Given the description of an element on the screen output the (x, y) to click on. 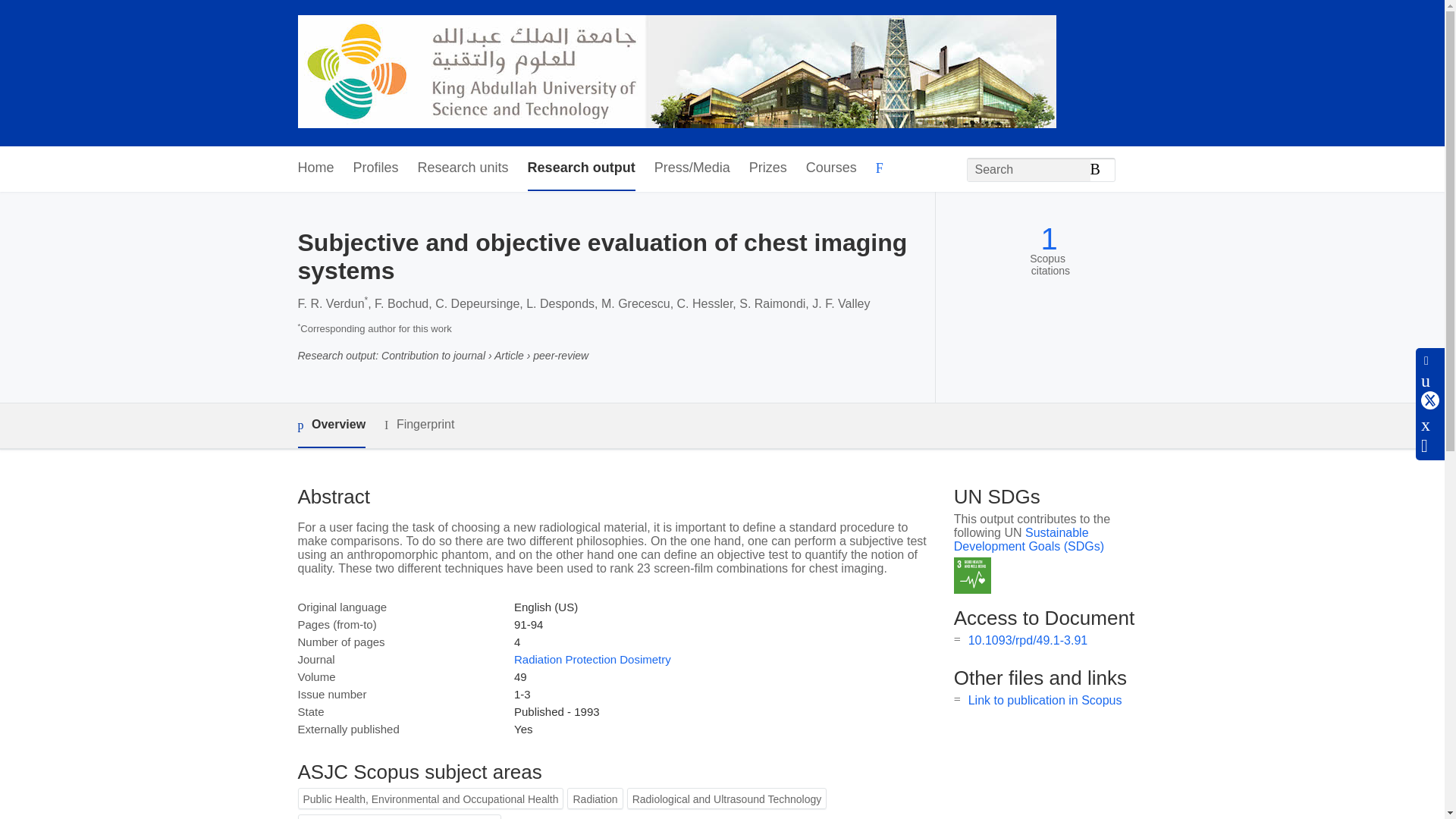
KAUST PORTAL FOR RESEARCHERS AND STUDENTS Home (676, 73)
Research units (462, 168)
SDG 3 - Good Health and Well-being (972, 575)
Fingerprint (419, 424)
Link to publication in Scopus (1045, 699)
Radiation Protection Dosimetry (592, 658)
Overview (331, 425)
Courses (831, 168)
Profiles (375, 168)
